Given the description of an element on the screen output the (x, y) to click on. 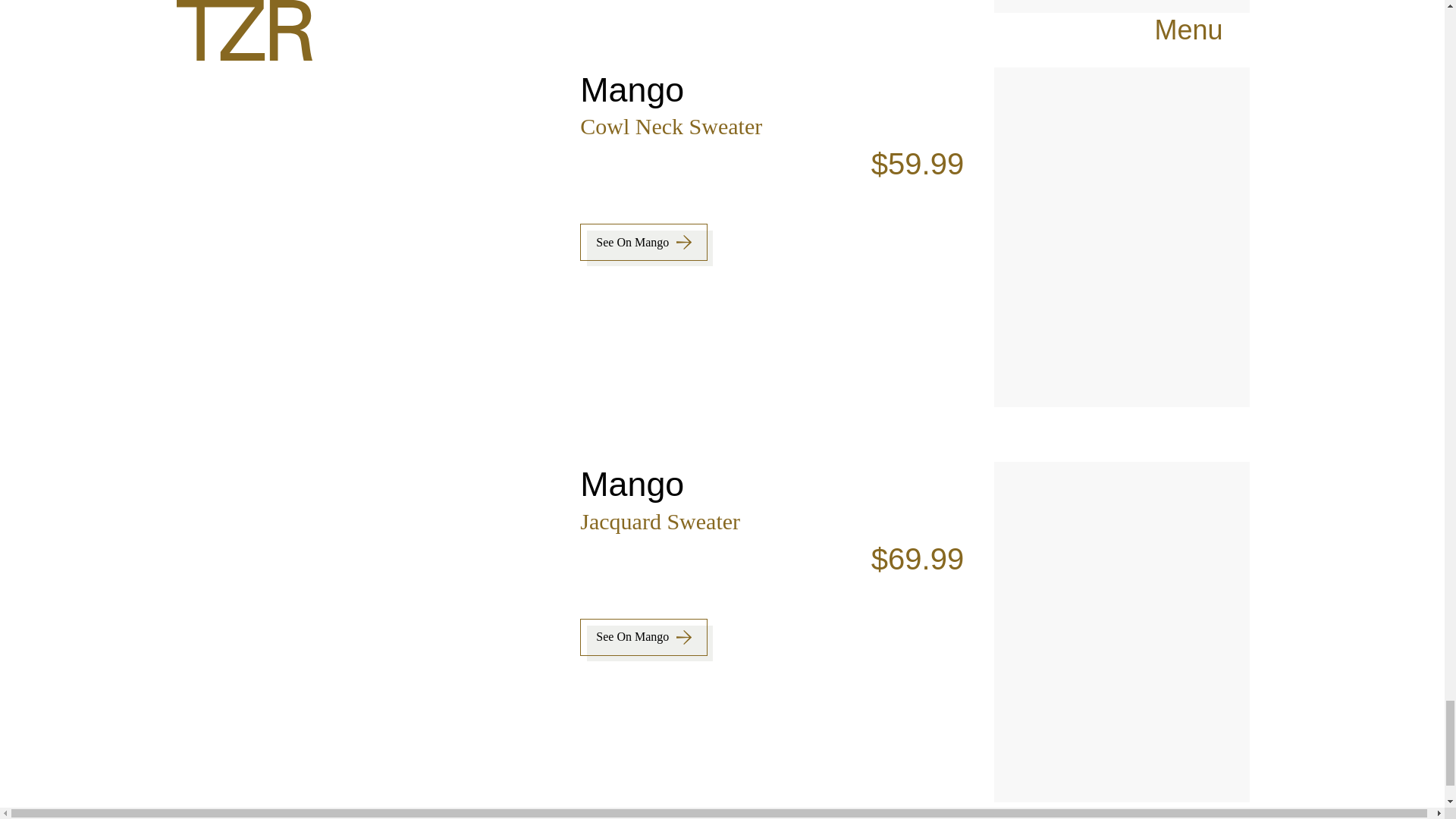
See On Mango (643, 242)
